Given the description of an element on the screen output the (x, y) to click on. 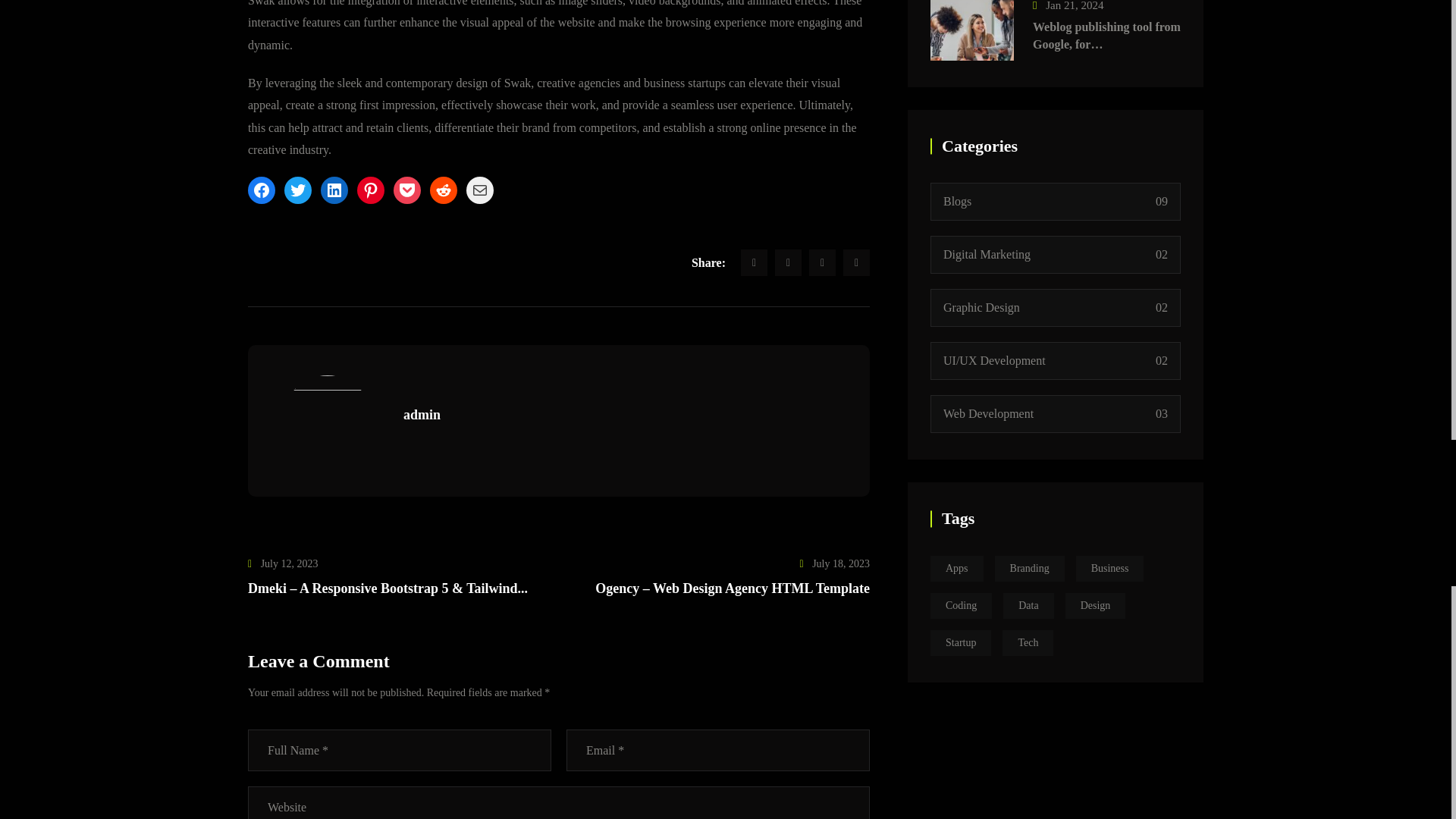
admin (422, 415)
